Given the description of an element on the screen output the (x, y) to click on. 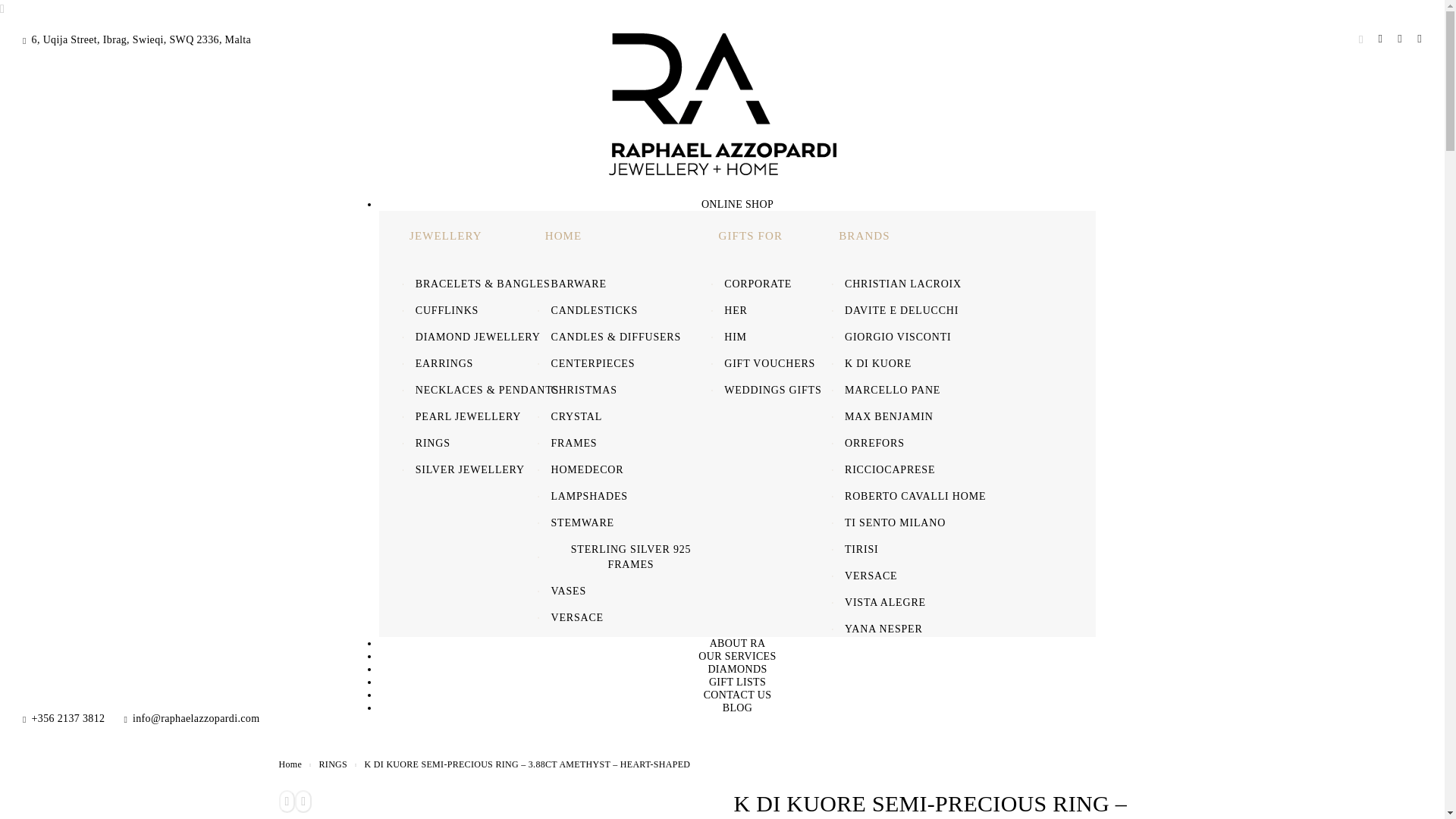
Login (1380, 39)
